Given the description of an element on the screen output the (x, y) to click on. 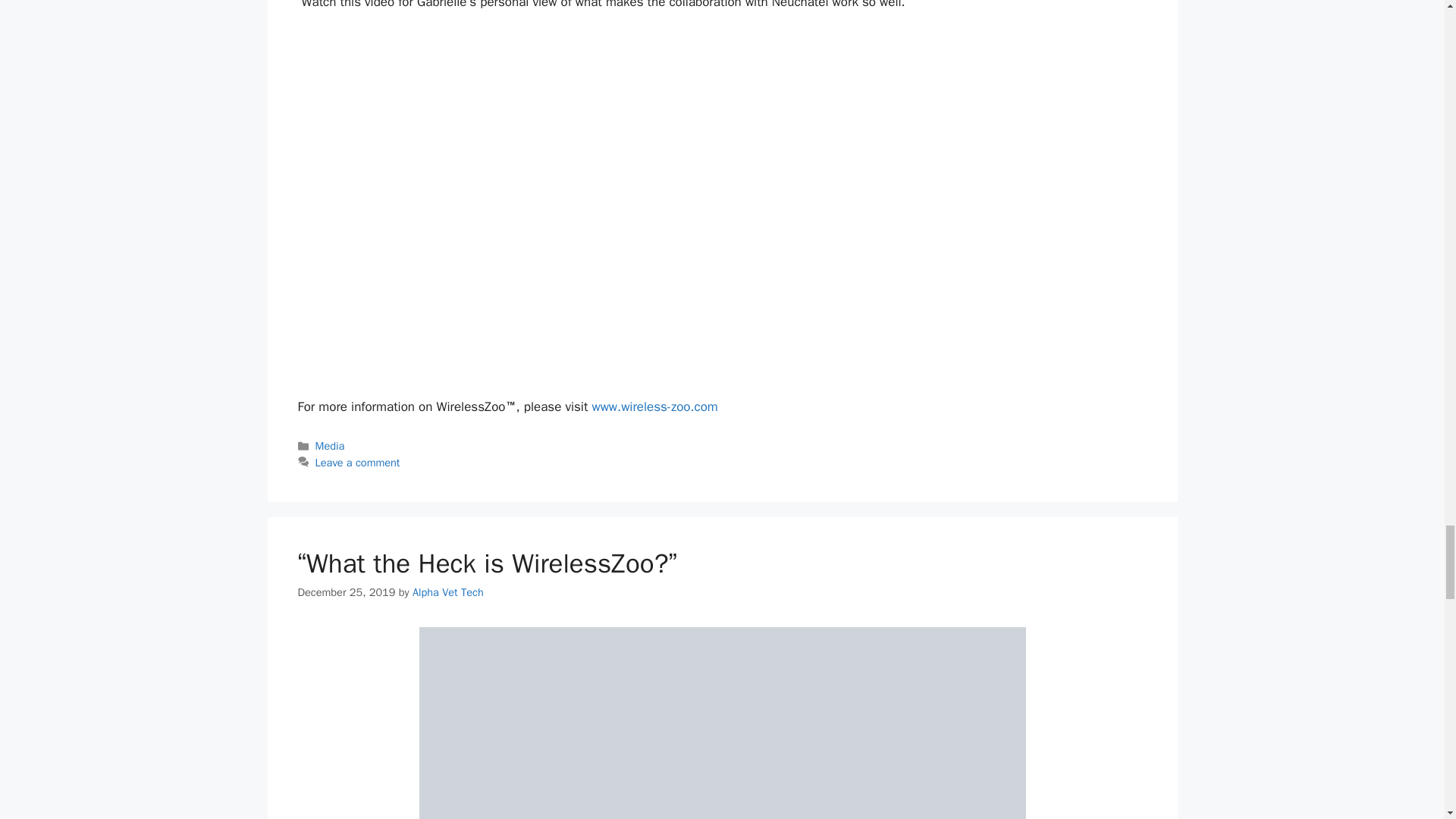
View all posts by Alpha Vet Tech (447, 591)
Media (330, 445)
Leave a comment (357, 462)
www.wireless-zoo.com (654, 406)
